Given the description of an element on the screen output the (x, y) to click on. 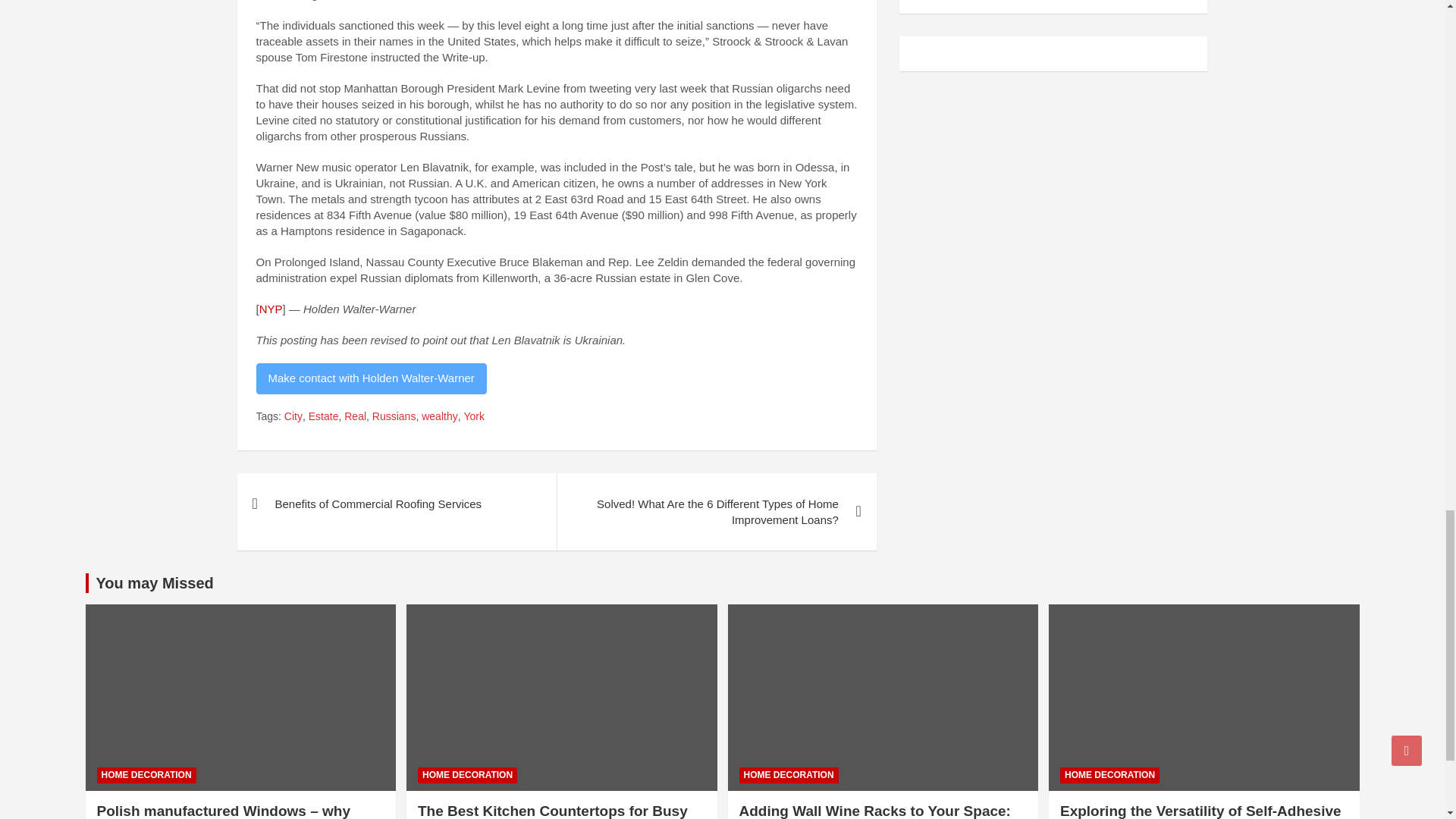
Estate (323, 417)
Benefits of Commercial Roofing Services (395, 503)
Real (354, 417)
Russians (394, 417)
City (292, 417)
York (473, 417)
NYP (270, 308)
wealthy (439, 417)
Make contact with Holden Walter-Warner (371, 378)
